Given the description of an element on the screen output the (x, y) to click on. 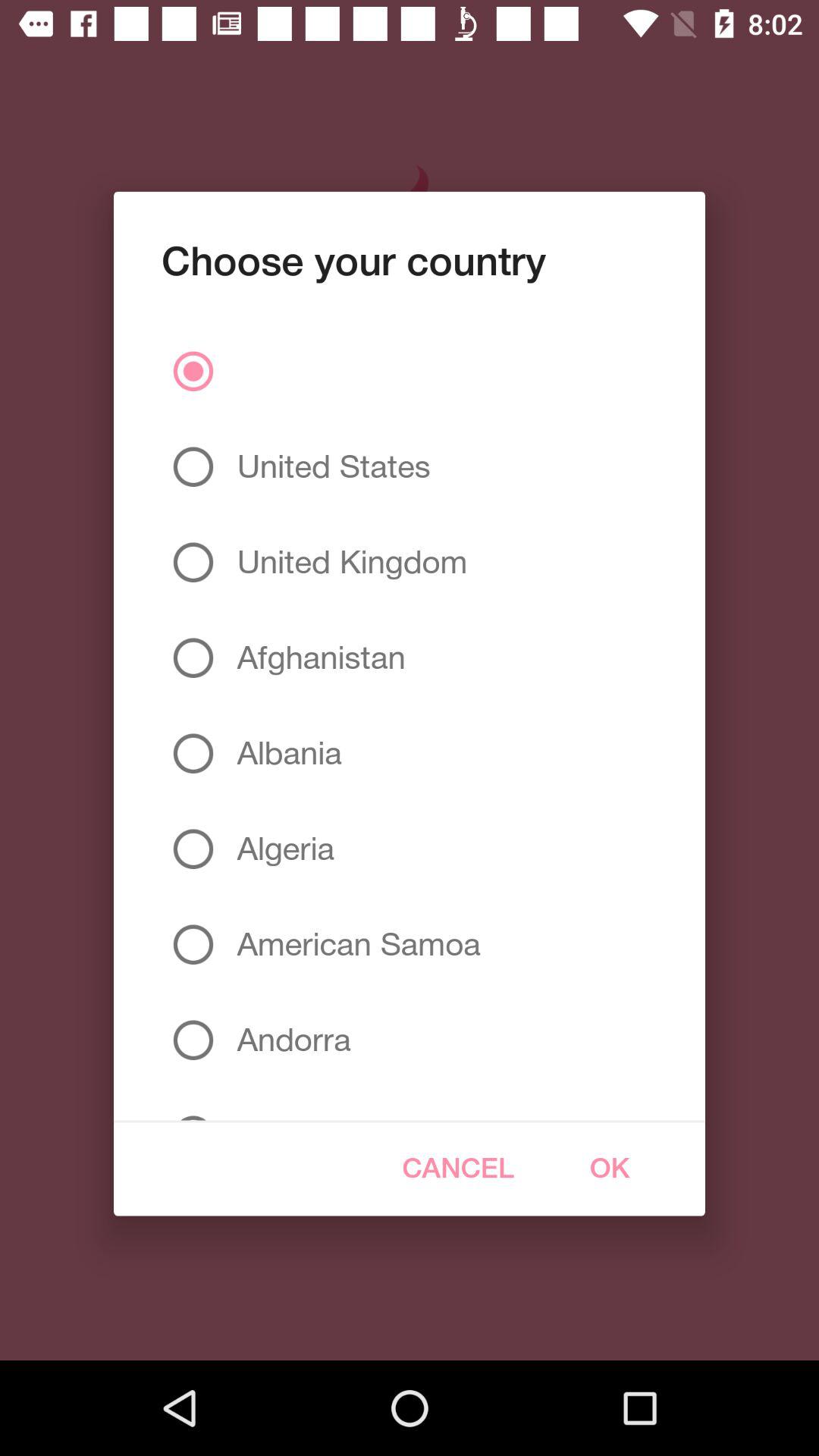
swipe to algeria (279, 848)
